Given the description of an element on the screen output the (x, y) to click on. 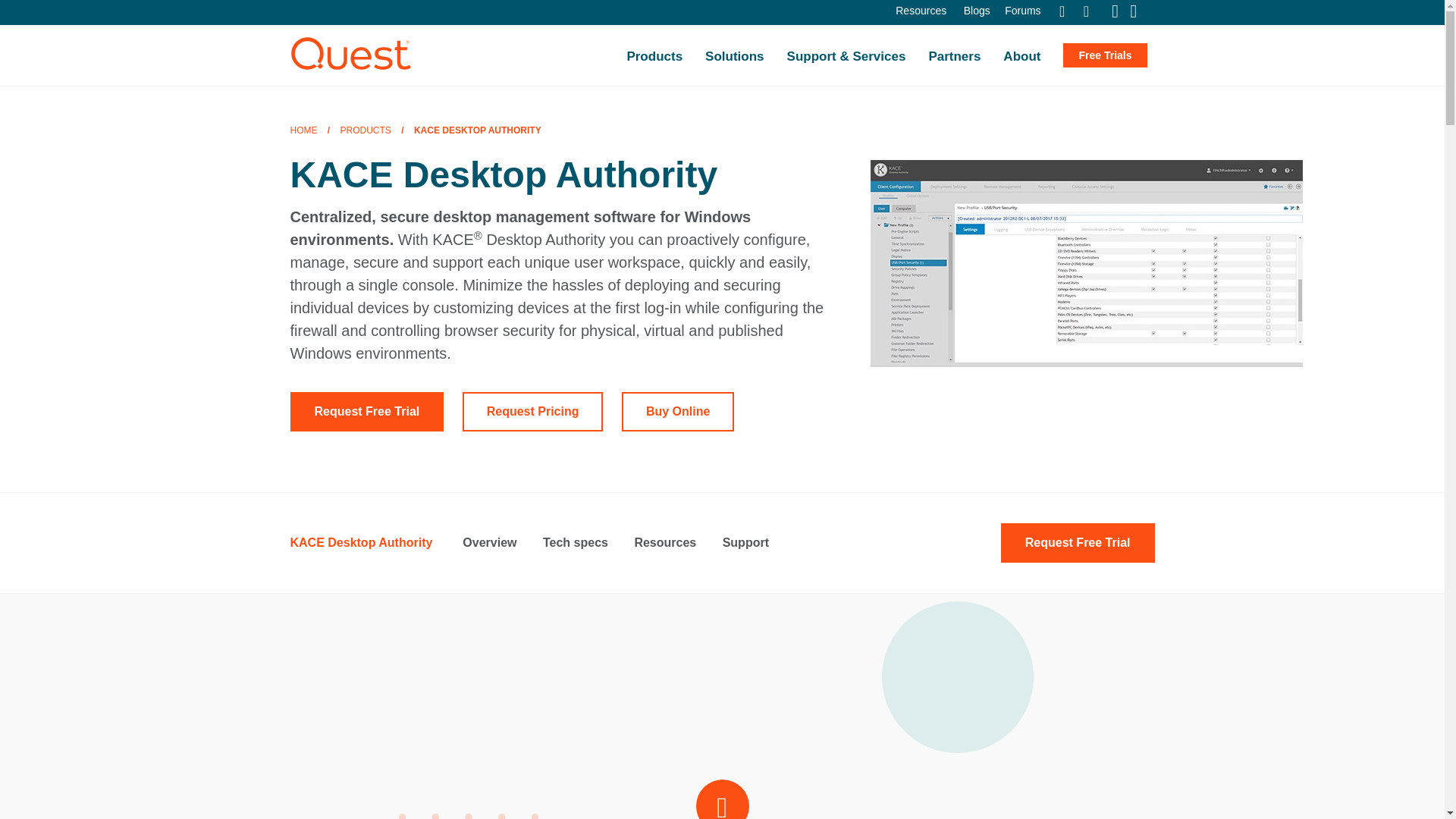
Forums (1022, 10)
